Given the description of an element on the screen output the (x, y) to click on. 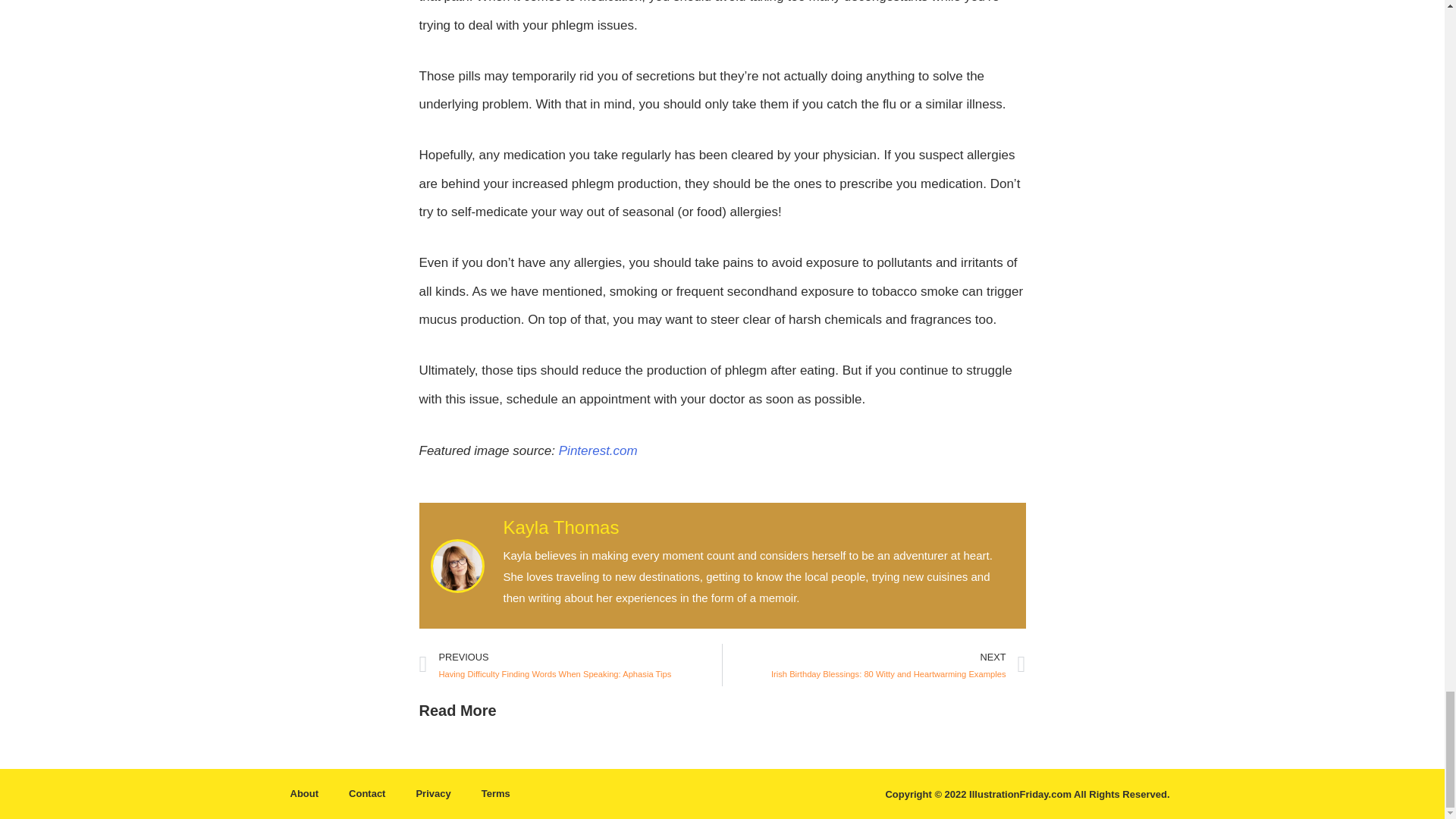
Contact (366, 793)
Pinterest.com (598, 450)
Terms (495, 793)
About (304, 793)
Privacy (432, 793)
